Given the description of an element on the screen output the (x, y) to click on. 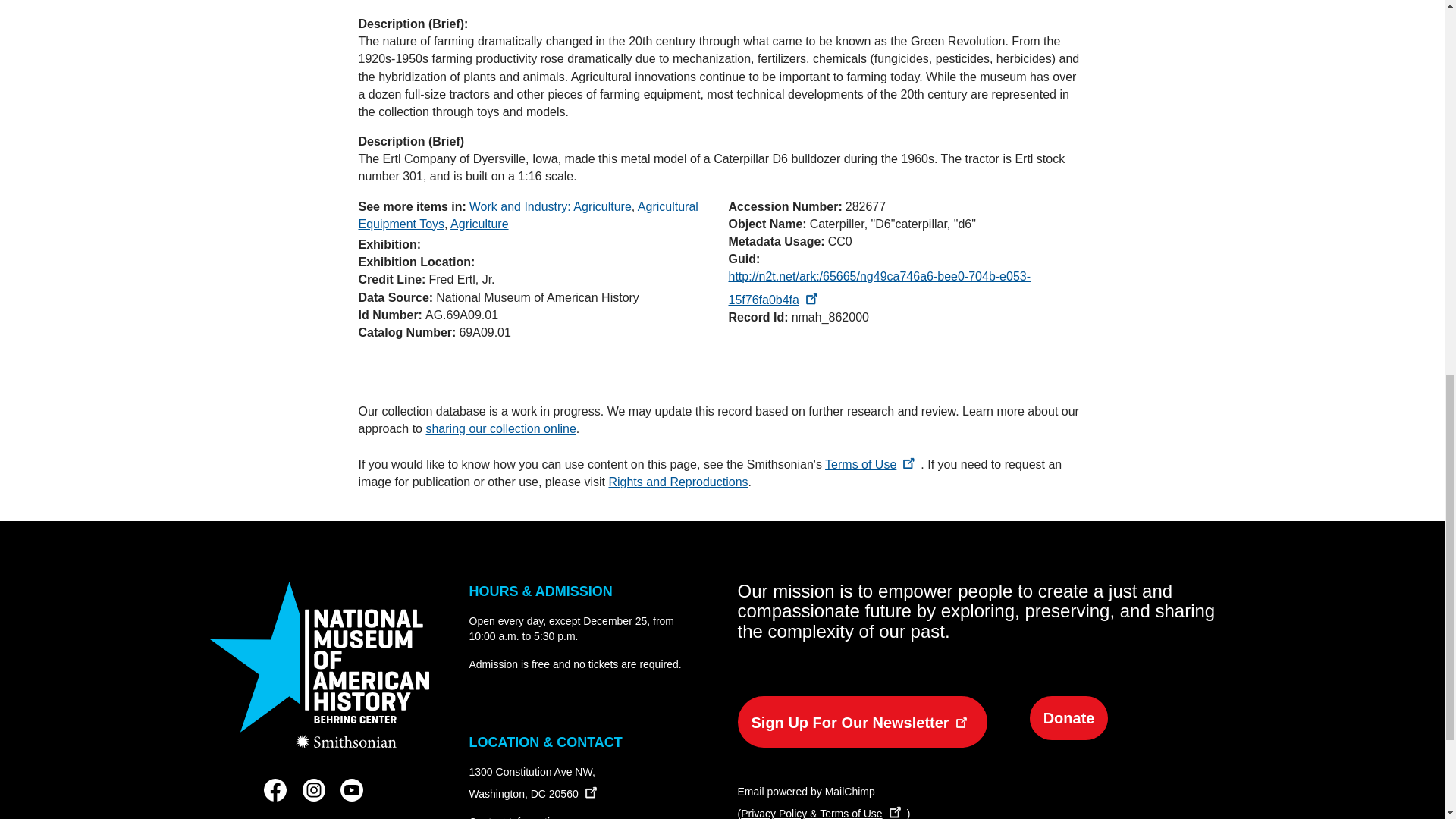
Agriculture (478, 223)
Work and Industry: Agriculture (549, 205)
Agricultural Equipment Toys (527, 214)
